Given the description of an element on the screen output the (x, y) to click on. 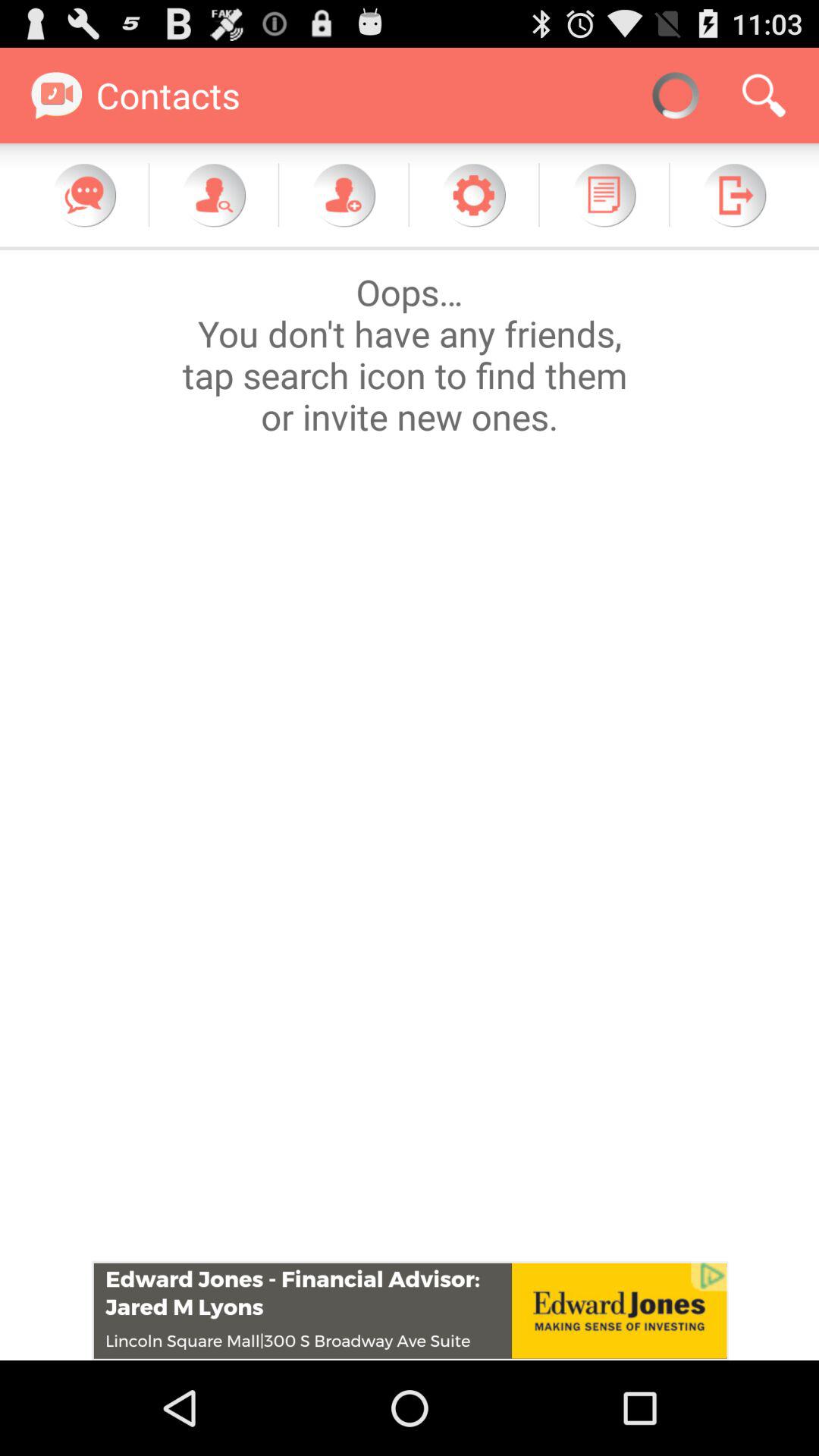
add friend (343, 194)
